Given the description of an element on the screen output the (x, y) to click on. 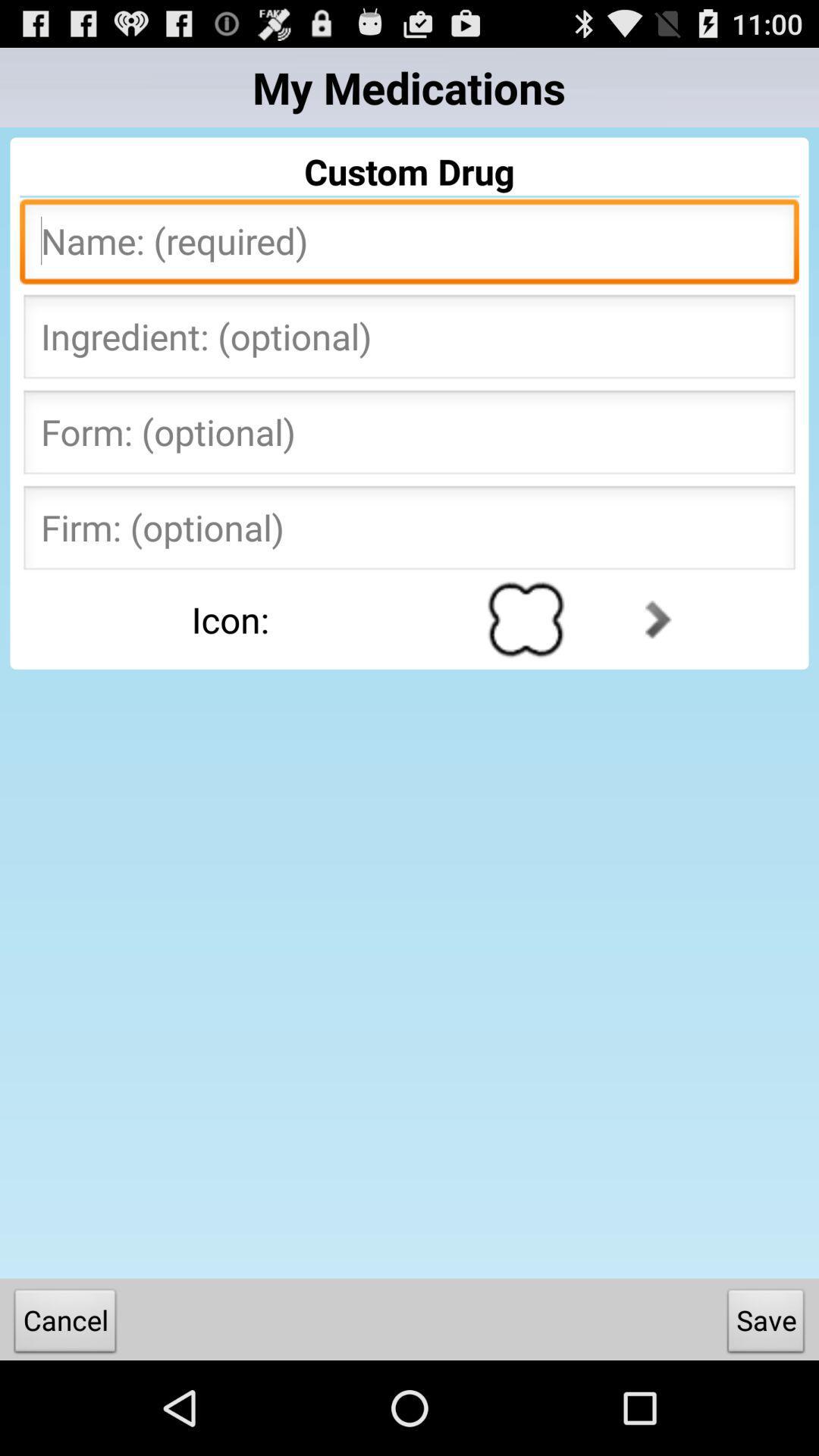
ingredient input box (409, 341)
